Given the description of an element on the screen output the (x, y) to click on. 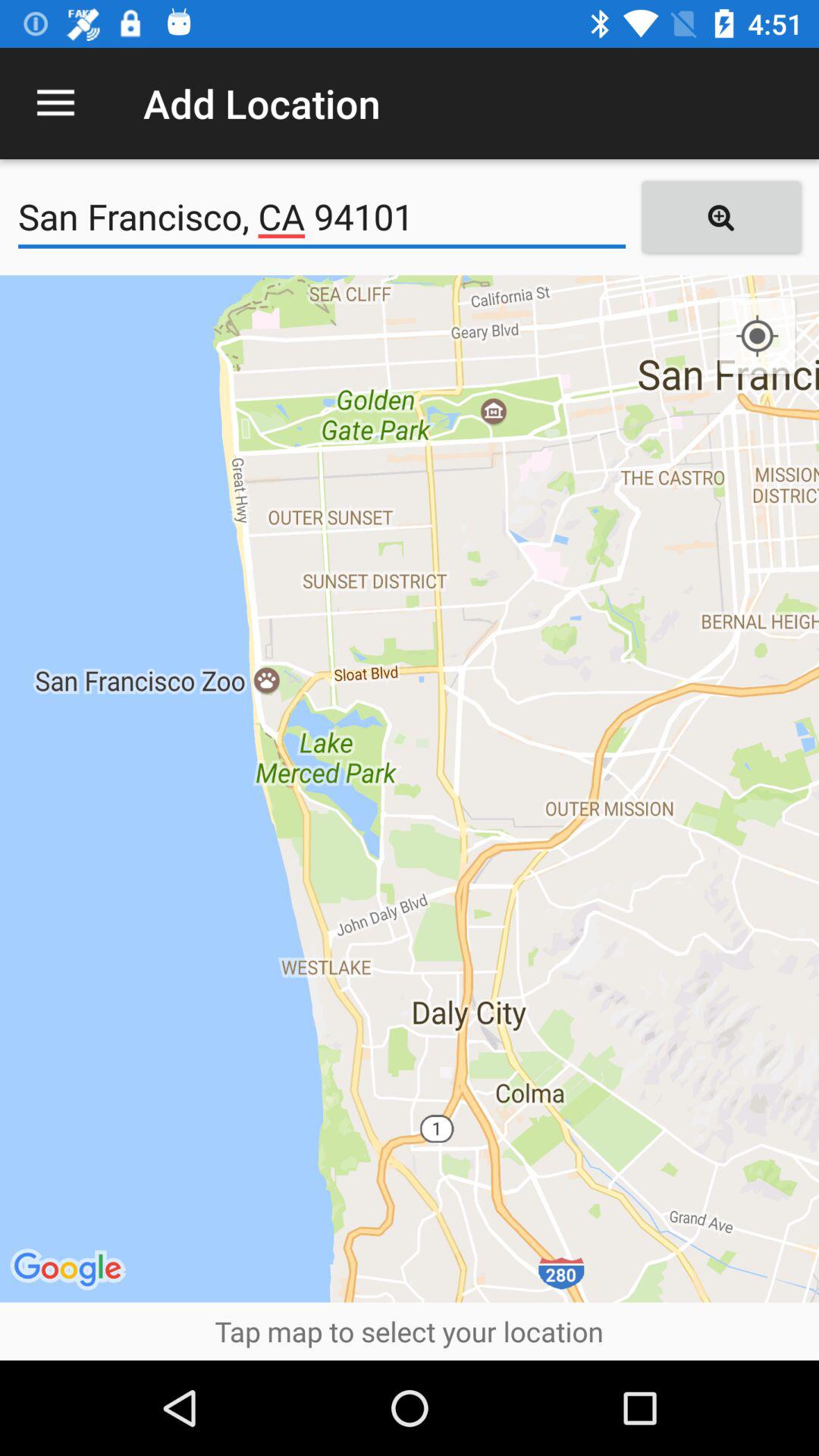
tap the icon to the right of the san francisco ca (720, 217)
